Given the description of an element on the screen output the (x, y) to click on. 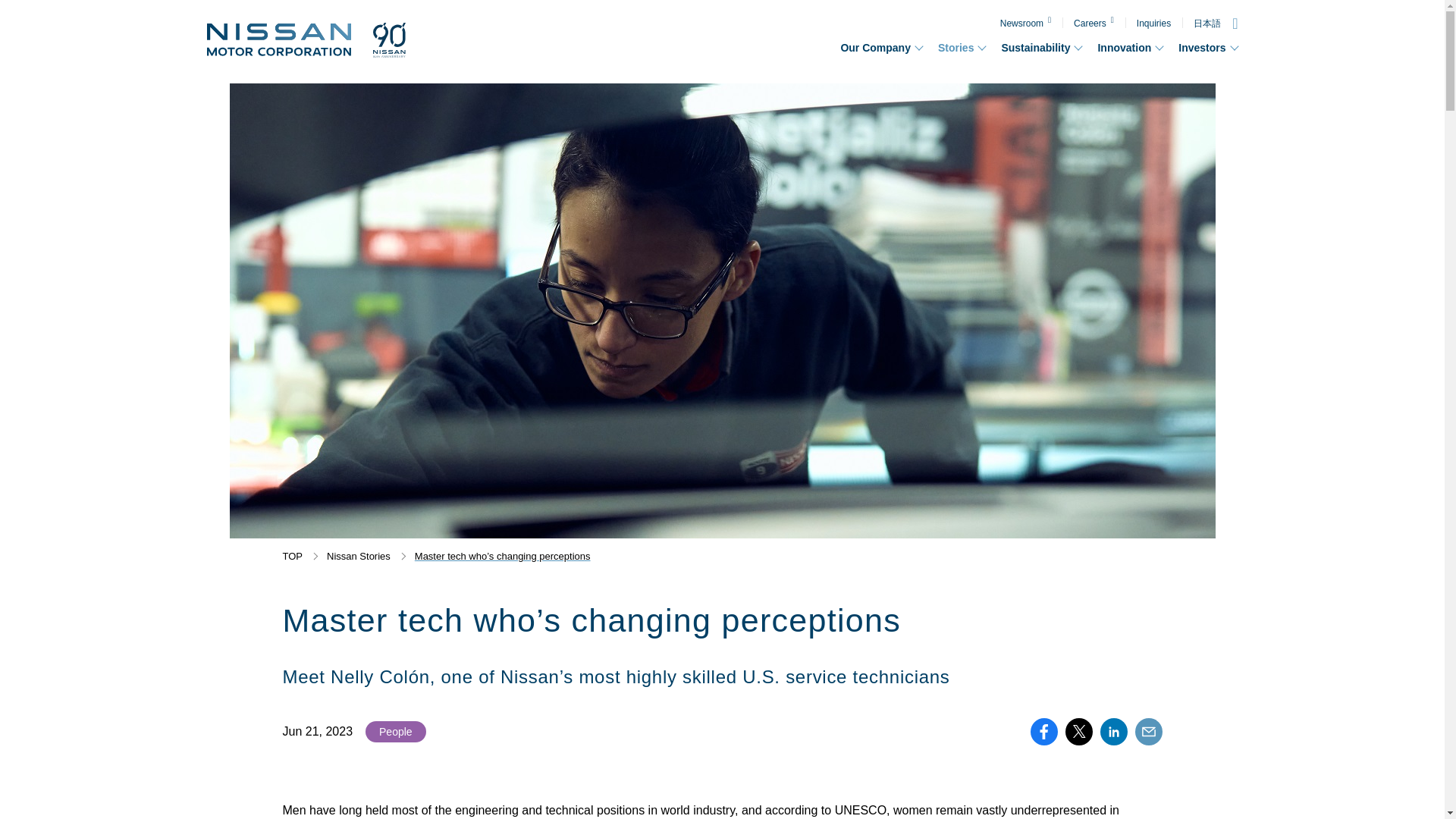
Innovation (1130, 47)
Sustainability (1041, 47)
Our Company (881, 47)
Stories (961, 47)
Inquiries (1153, 23)
Newsroom (1025, 23)
Careers (1093, 23)
